Given the description of an element on the screen output the (x, y) to click on. 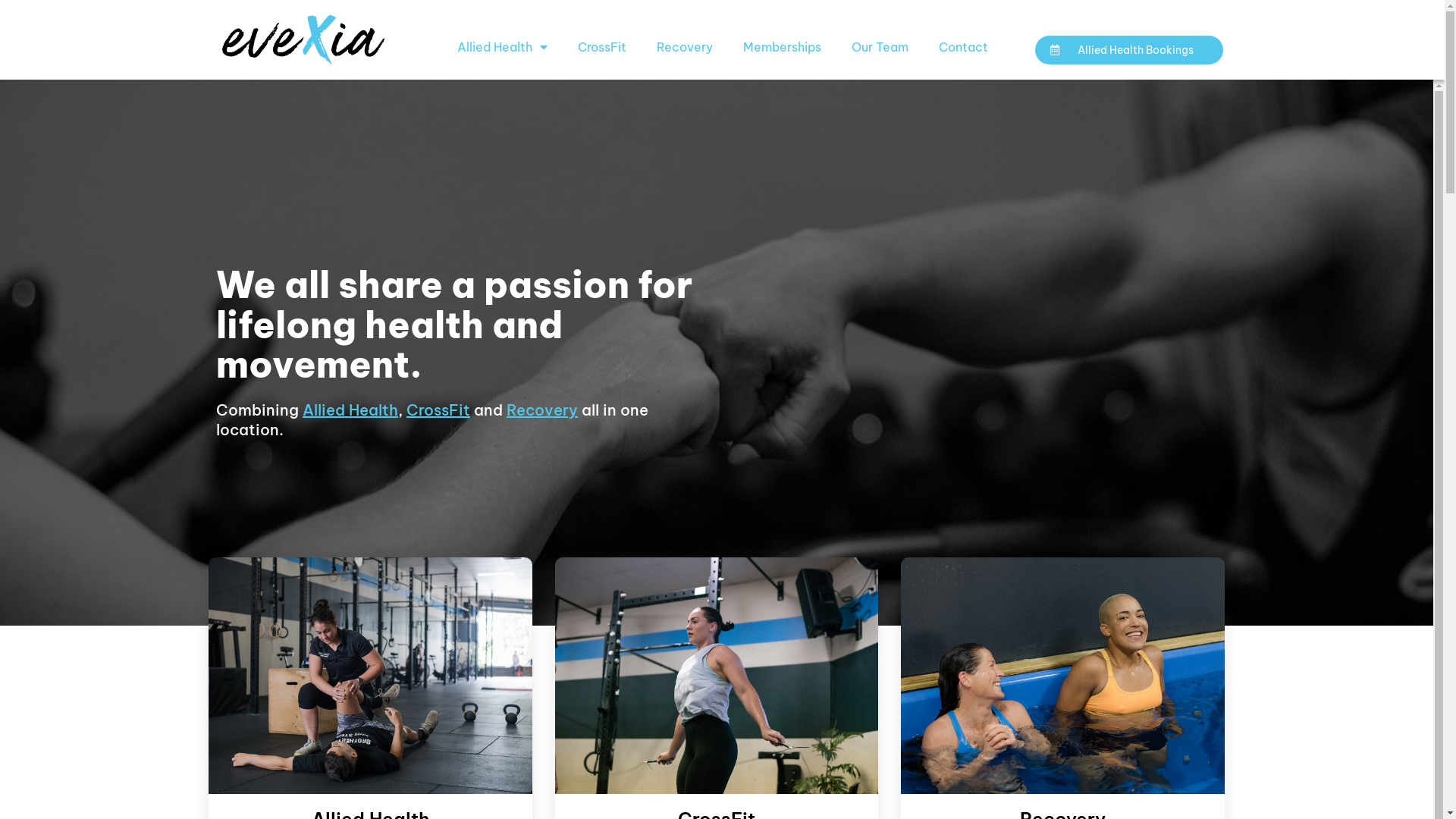
Allied Health Bookings Element type: text (1128, 49)
Our Team Element type: text (878, 46)
CrossFit Element type: text (438, 409)
Allied Health Element type: text (501, 46)
Memberships Element type: text (782, 46)
Contact Element type: text (963, 46)
CrossFit Element type: text (601, 46)
Recovery Element type: text (541, 409)
Allied Health Element type: text (350, 409)
Recovery Element type: text (684, 46)
